Given the description of an element on the screen output the (x, y) to click on. 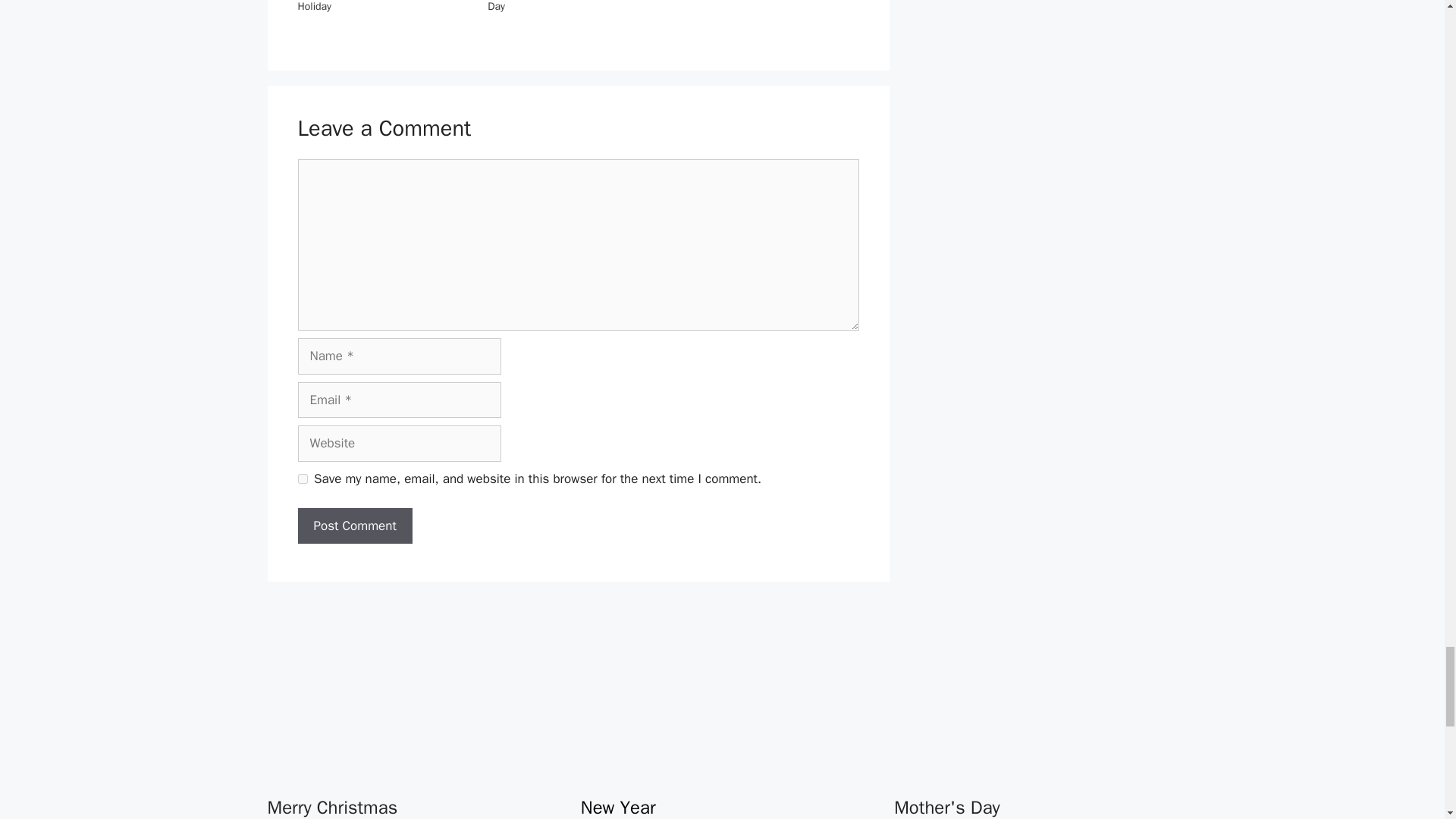
Post Comment (354, 525)
Is American Family Day A Public Holiday (370, 6)
yes (302, 479)
How To Celebrate American Family Day (567, 6)
Is American Family Day A Public Holiday (370, 6)
